Given the description of an element on the screen output the (x, y) to click on. 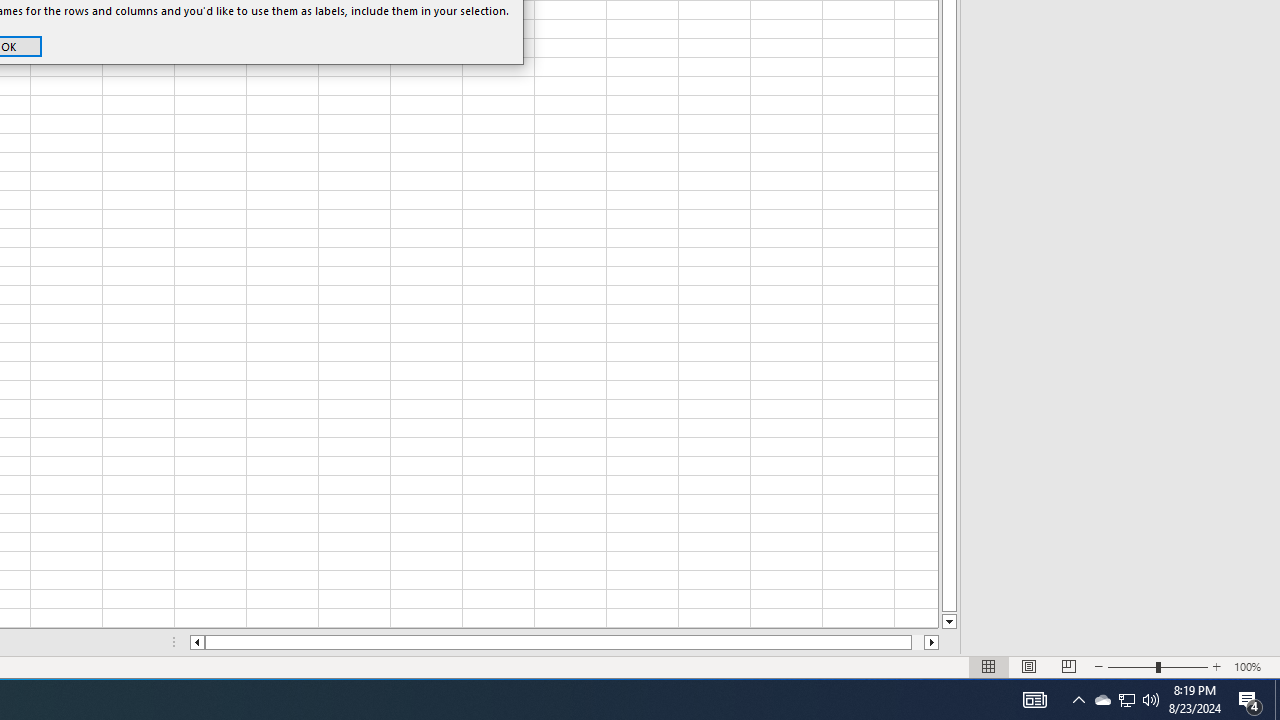
AutomationID: 4105 (1034, 699)
